Given the description of an element on the screen output the (x, y) to click on. 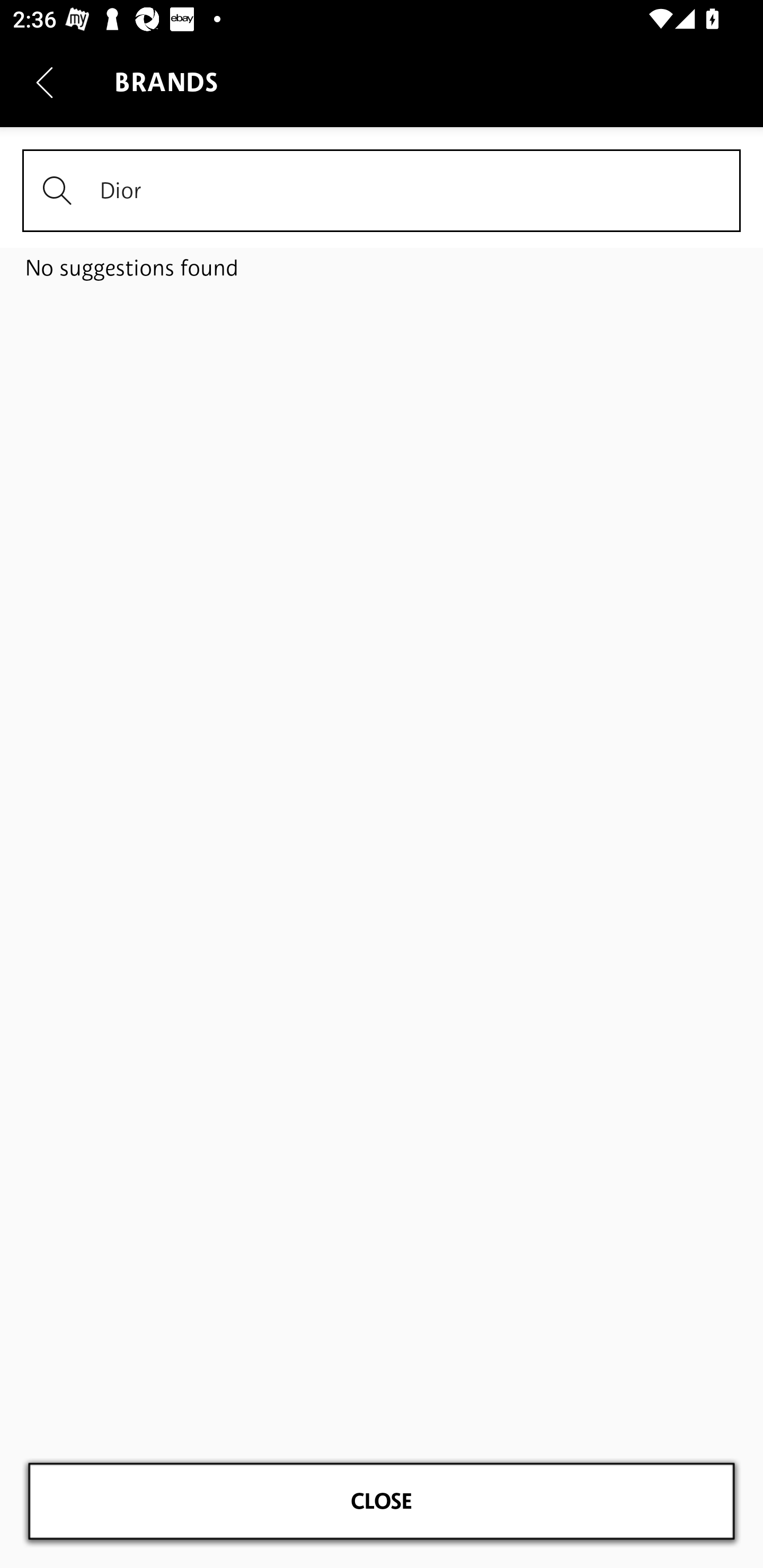
Navigate up (44, 82)
Dior (381, 190)
BRANDS (381, 246)
OTHERS (381, 483)
CLOSE (381, 1501)
